Given the description of an element on the screen output the (x, y) to click on. 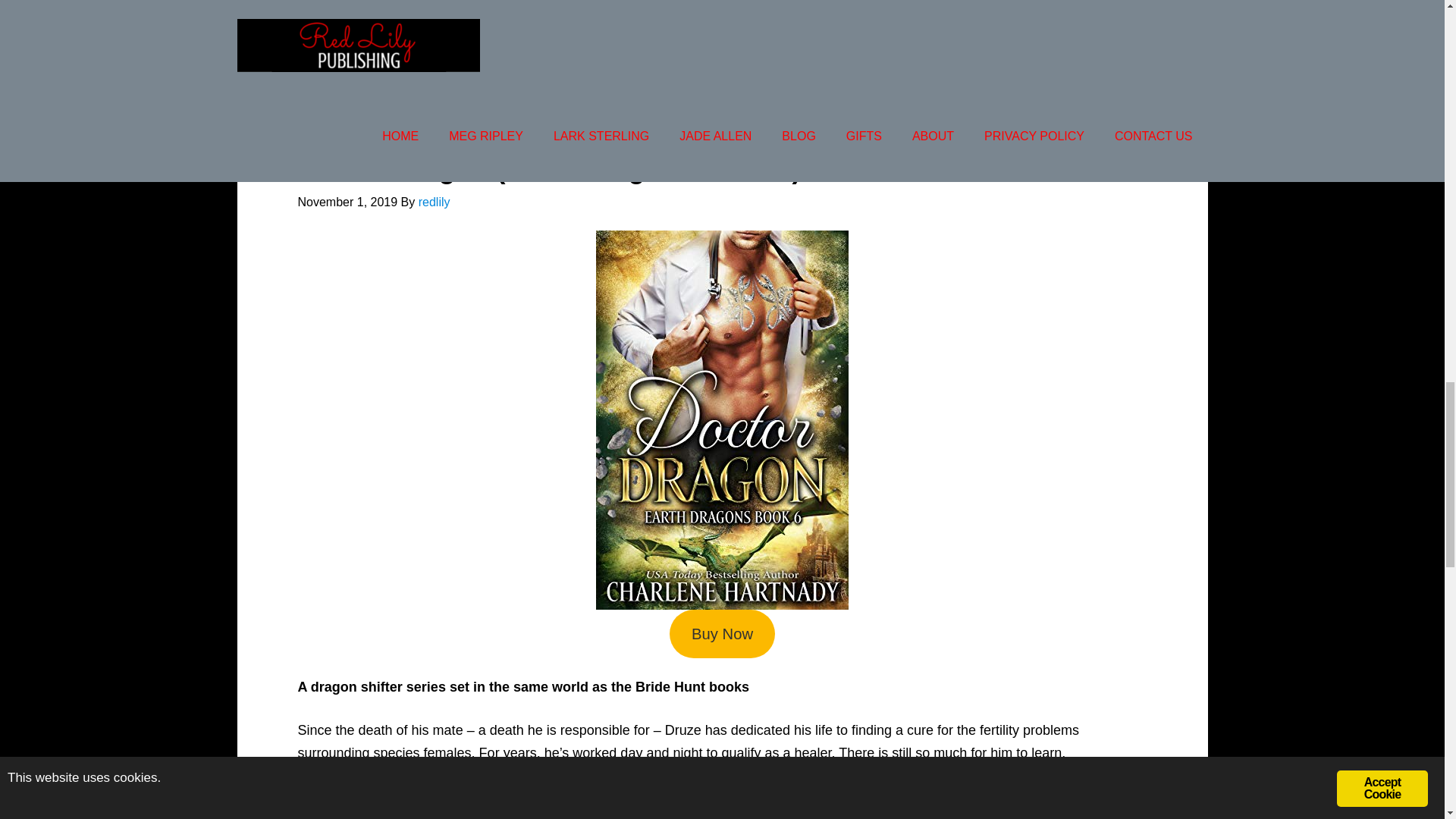
Steamy Paranormal Romance (447, 3)
